Given the description of an element on the screen output the (x, y) to click on. 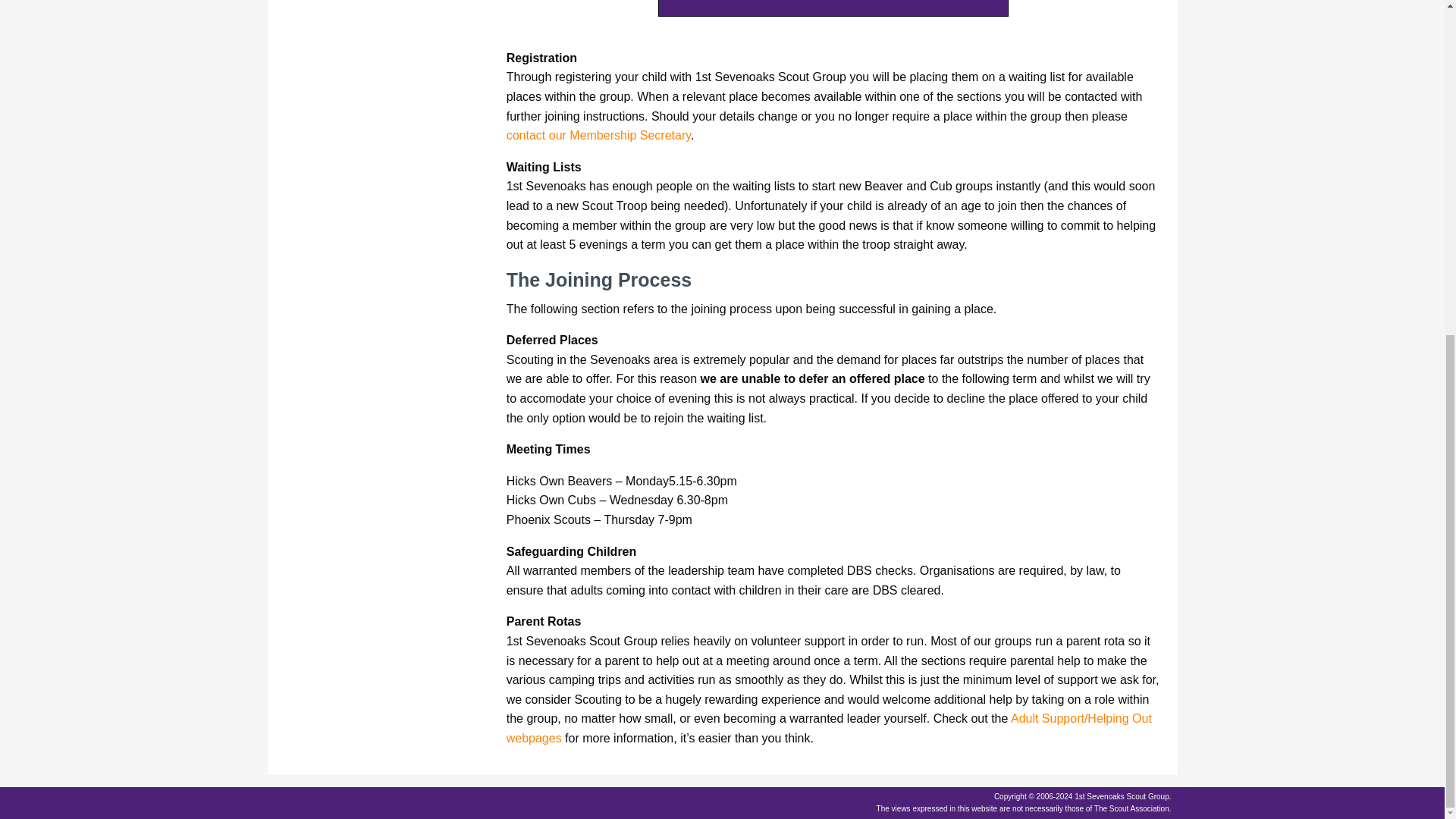
contact our Membership Secretary (598, 134)
